Given the description of an element on the screen output the (x, y) to click on. 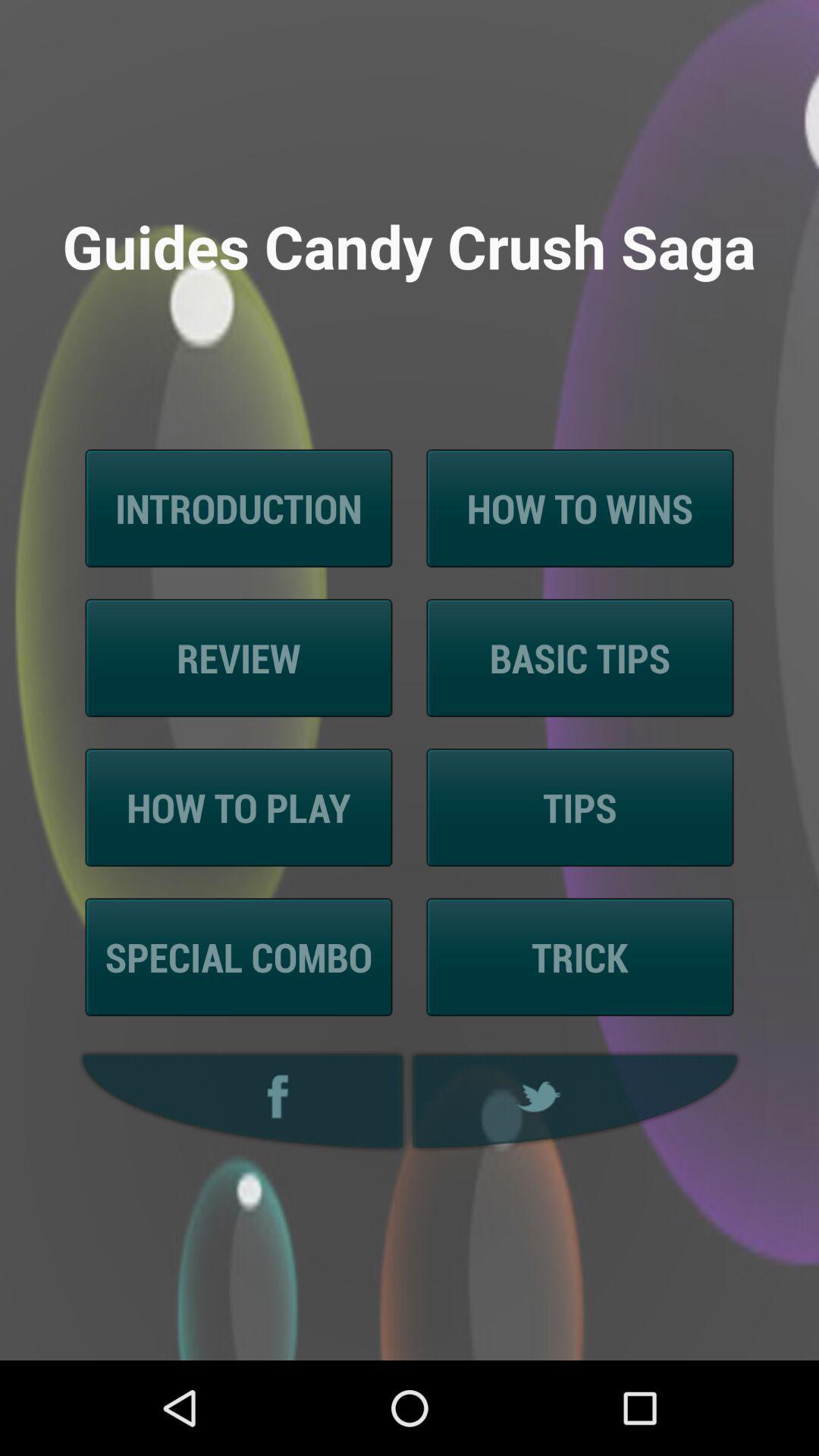
choose the icon above the review item (238, 508)
